Given the description of an element on the screen output the (x, y) to click on. 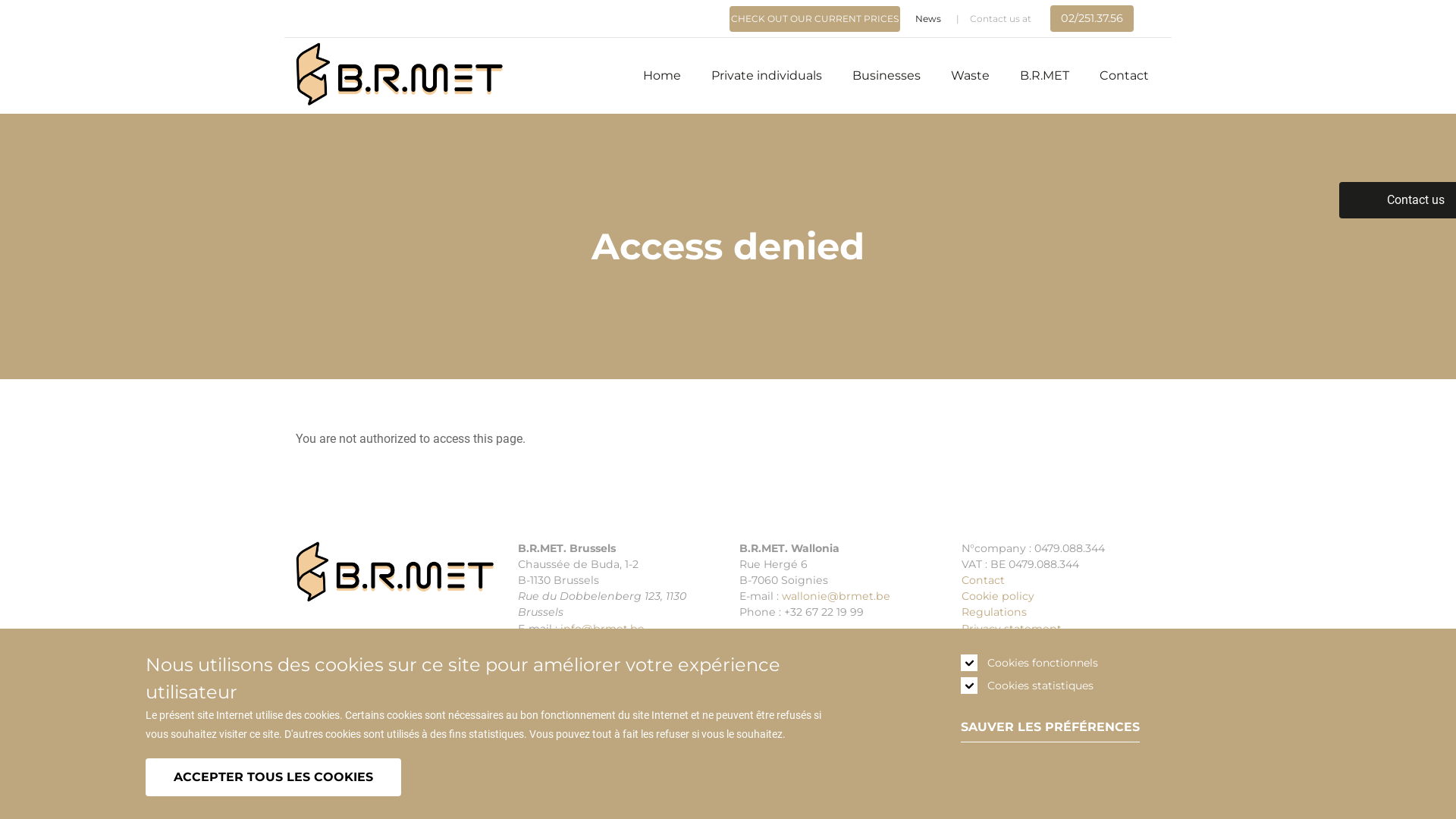
Website creation by Element type: text (434, 767)
Businesses Element type: text (886, 75)
info@brmet.be Element type: text (601, 628)
Contact Element type: text (1123, 75)
Privacy statement Element type: text (1011, 628)
02/251.37.56 Element type: text (1091, 18)
Regulations Element type: text (993, 611)
News Element type: text (928, 18)
B.R.MET Element type: text (1044, 75)
RETIRER LE CONSENTEMENT Element type: text (429, 769)
Home Element type: text (661, 75)
Cookie policy Element type: text (997, 595)
Private individuals Element type: text (766, 75)
ACCEPTER TOUS LES COOKIES Element type: text (273, 777)
Contact Element type: text (982, 579)
CHECK OUT OUR CURRENT PRICES Element type: text (814, 18)
wallonie@brmet.be Element type: text (835, 595)
